Given the description of an element on the screen output the (x, y) to click on. 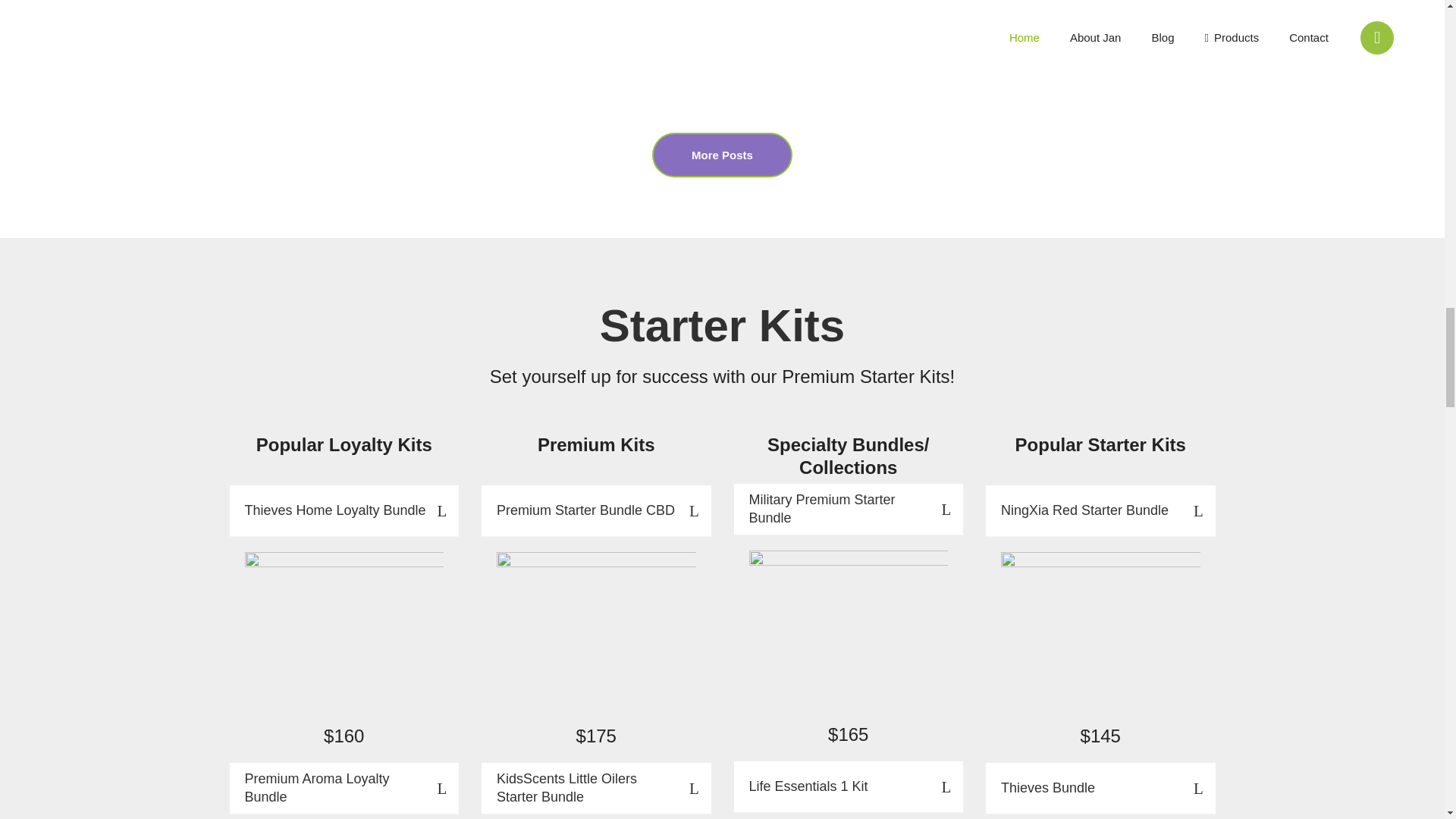
11 (344, 635)
8 (595, 635)
More Posts (722, 154)
5 (849, 633)
1 (1100, 635)
